Given the description of an element on the screen output the (x, y) to click on. 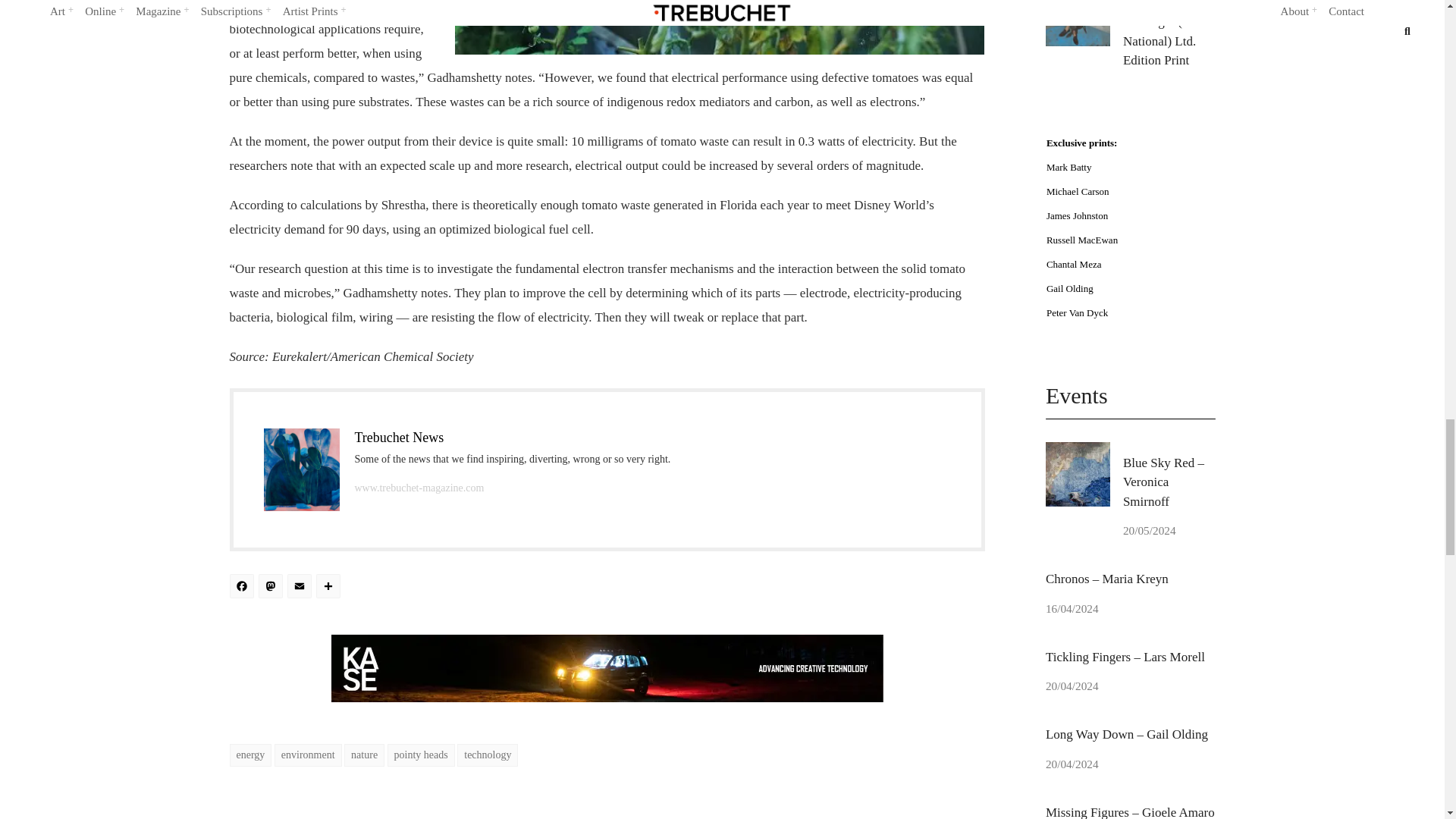
Email (300, 587)
Facebook (242, 587)
Mastodon (271, 587)
